Given the description of an element on the screen output the (x, y) to click on. 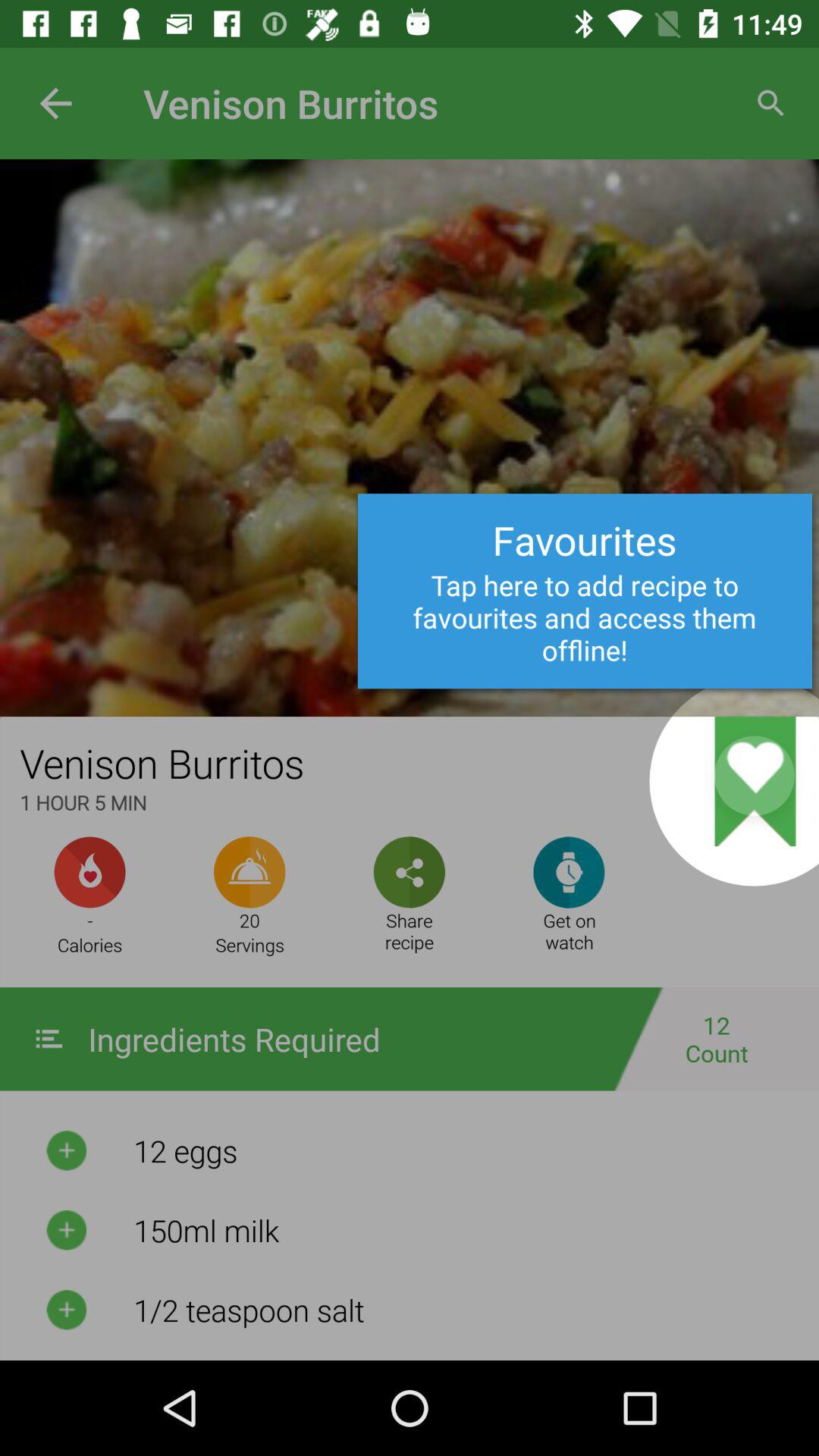
click on the favourites icon (608, 741)
select the option which is beside calories (249, 871)
select the text below 12 eggs (466, 1229)
